Given the description of an element on the screen output the (x, y) to click on. 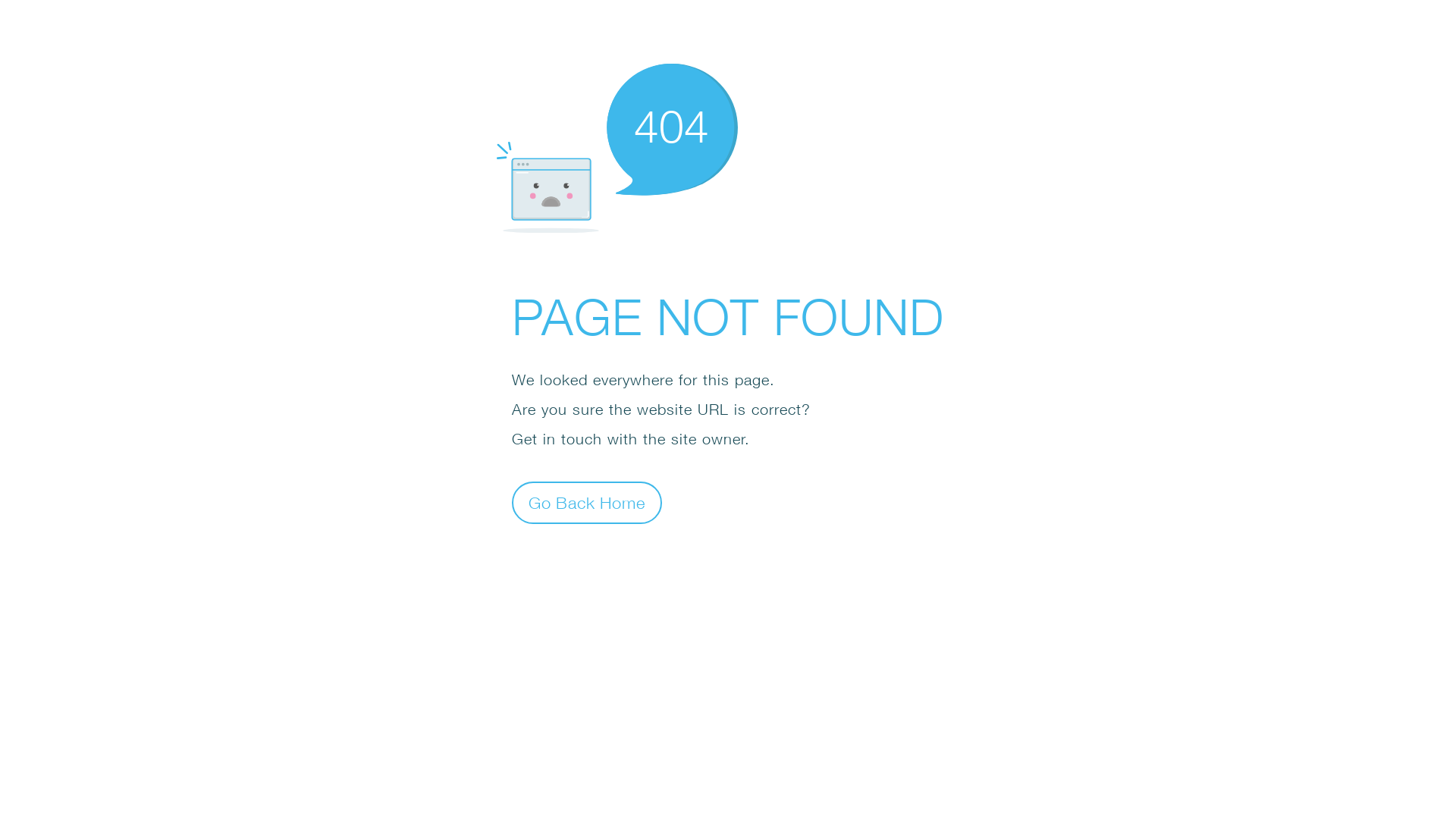
Go Back Home Element type: text (586, 502)
